Given the description of an element on the screen output the (x, y) to click on. 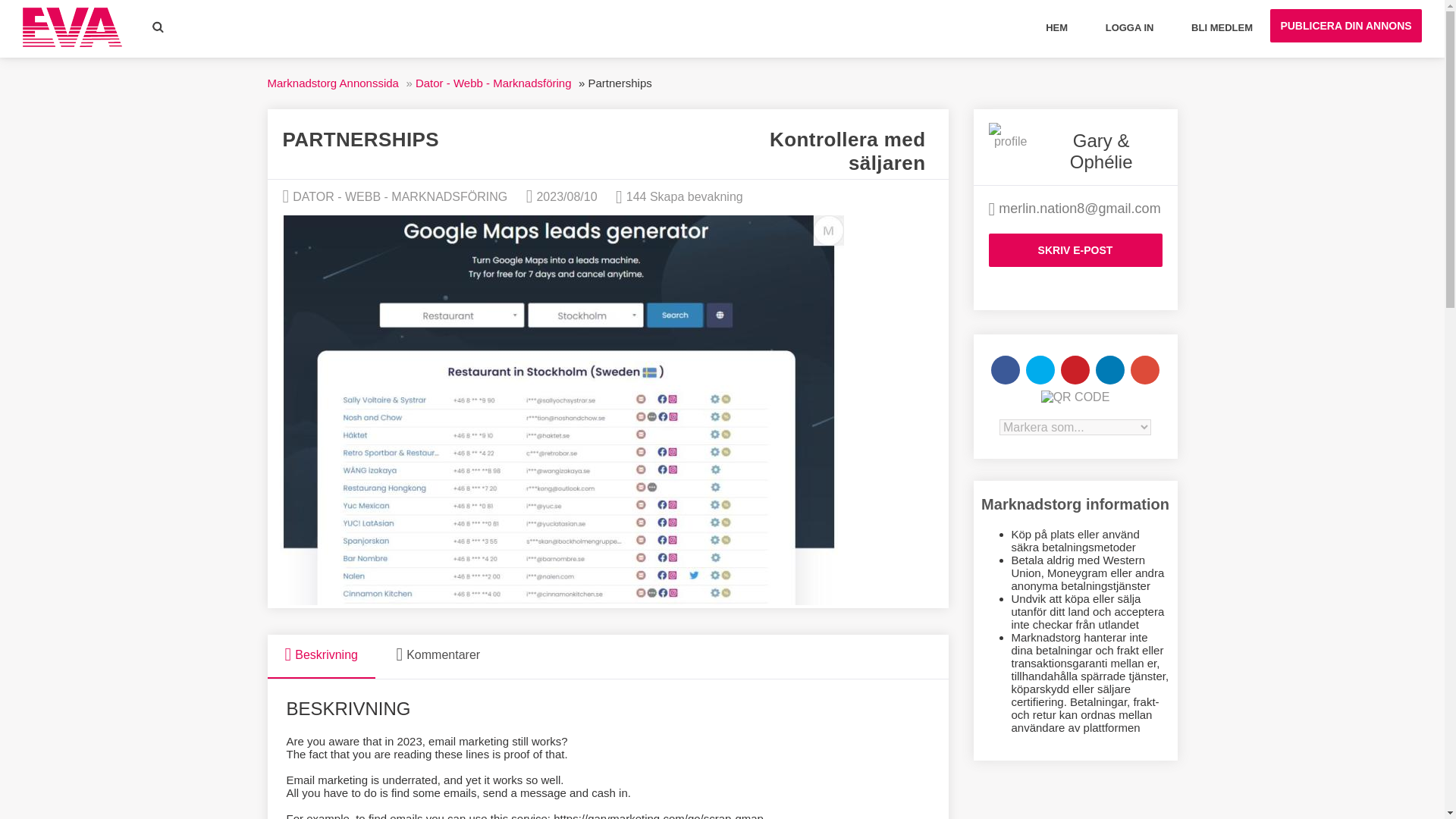
HEM (1055, 28)
Kommentarer (437, 655)
Beskrivning (320, 656)
Skapa bevakning (695, 196)
LOGGA IN (1129, 28)
Marknadstorg Annonssida (331, 82)
PUBLICERA DIN ANNONS (1345, 25)
SKRIV E-POST (1074, 249)
BLI MEDLEM (1221, 28)
